Given the description of an element on the screen output the (x, y) to click on. 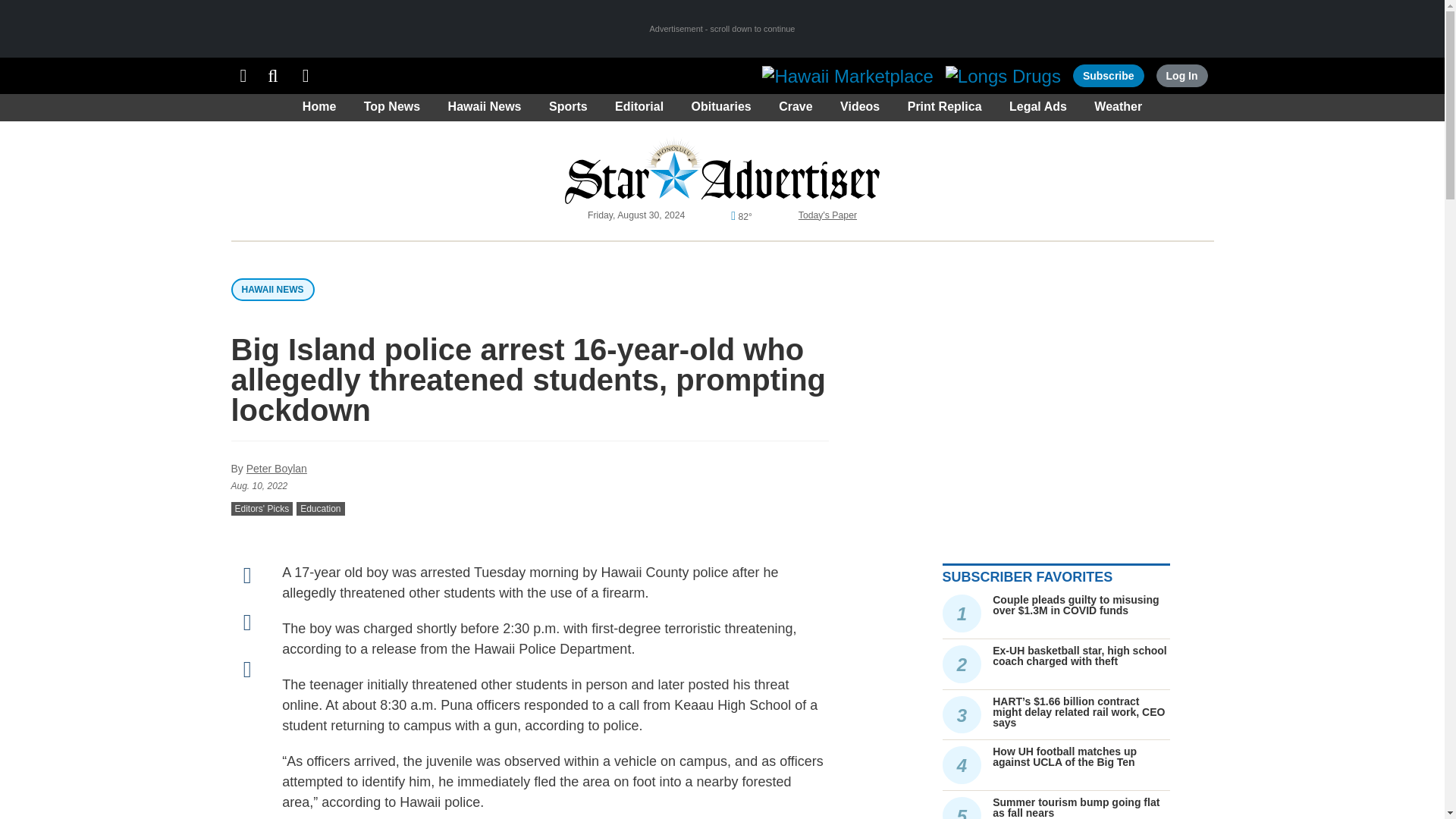
Print Replica (306, 75)
Subscribe (1108, 75)
Honolulu Star-Advertiser (721, 169)
Log In (1182, 75)
See more stories by Peter Boylan (276, 468)
Sections (243, 75)
Search (272, 75)
